Given the description of an element on the screen output the (x, y) to click on. 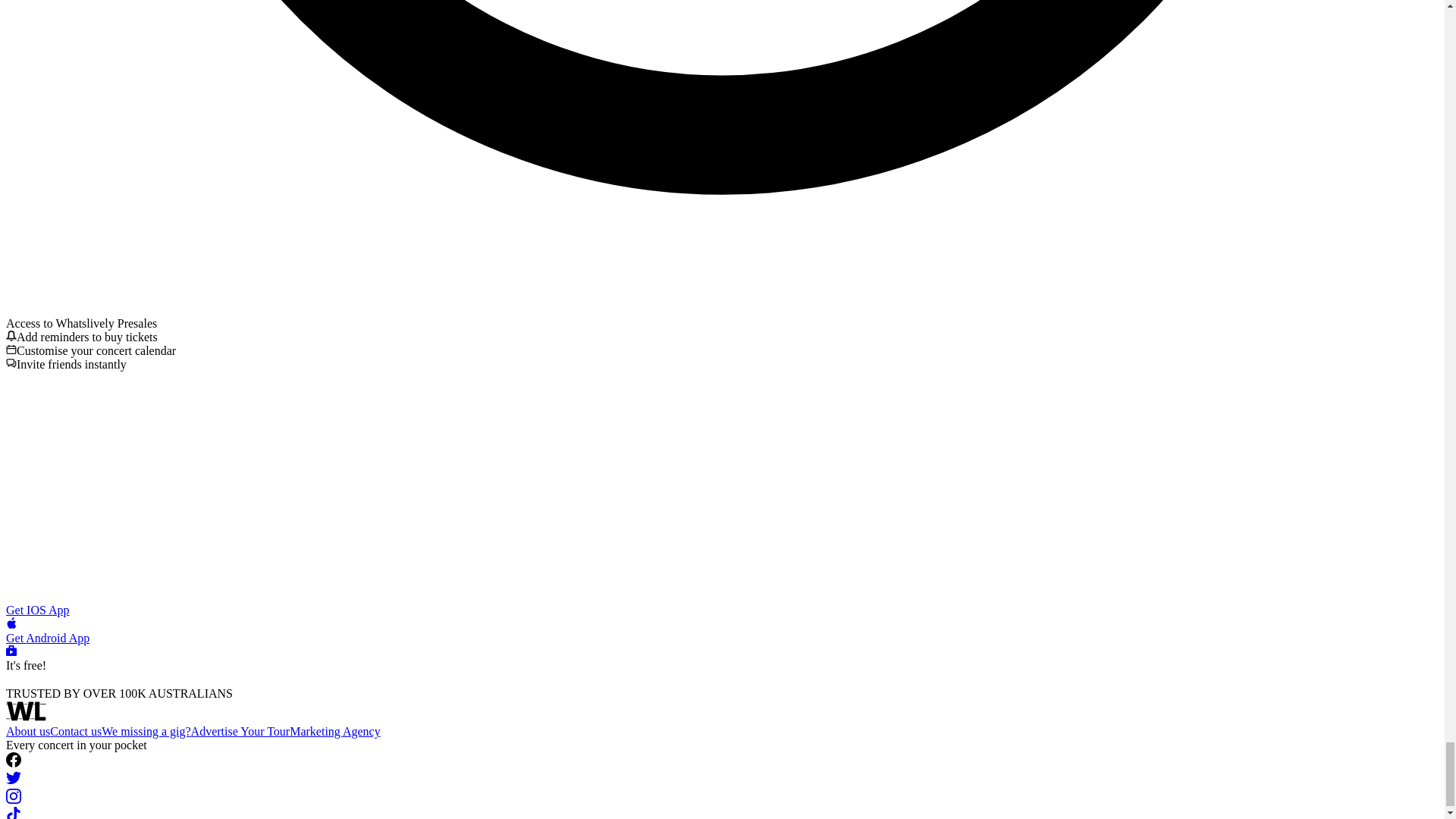
Marketing Agency (334, 730)
We missing a gig? (145, 730)
Advertise Your Tour (239, 730)
About us (27, 730)
Contact us (75, 730)
